Given the description of an element on the screen output the (x, y) to click on. 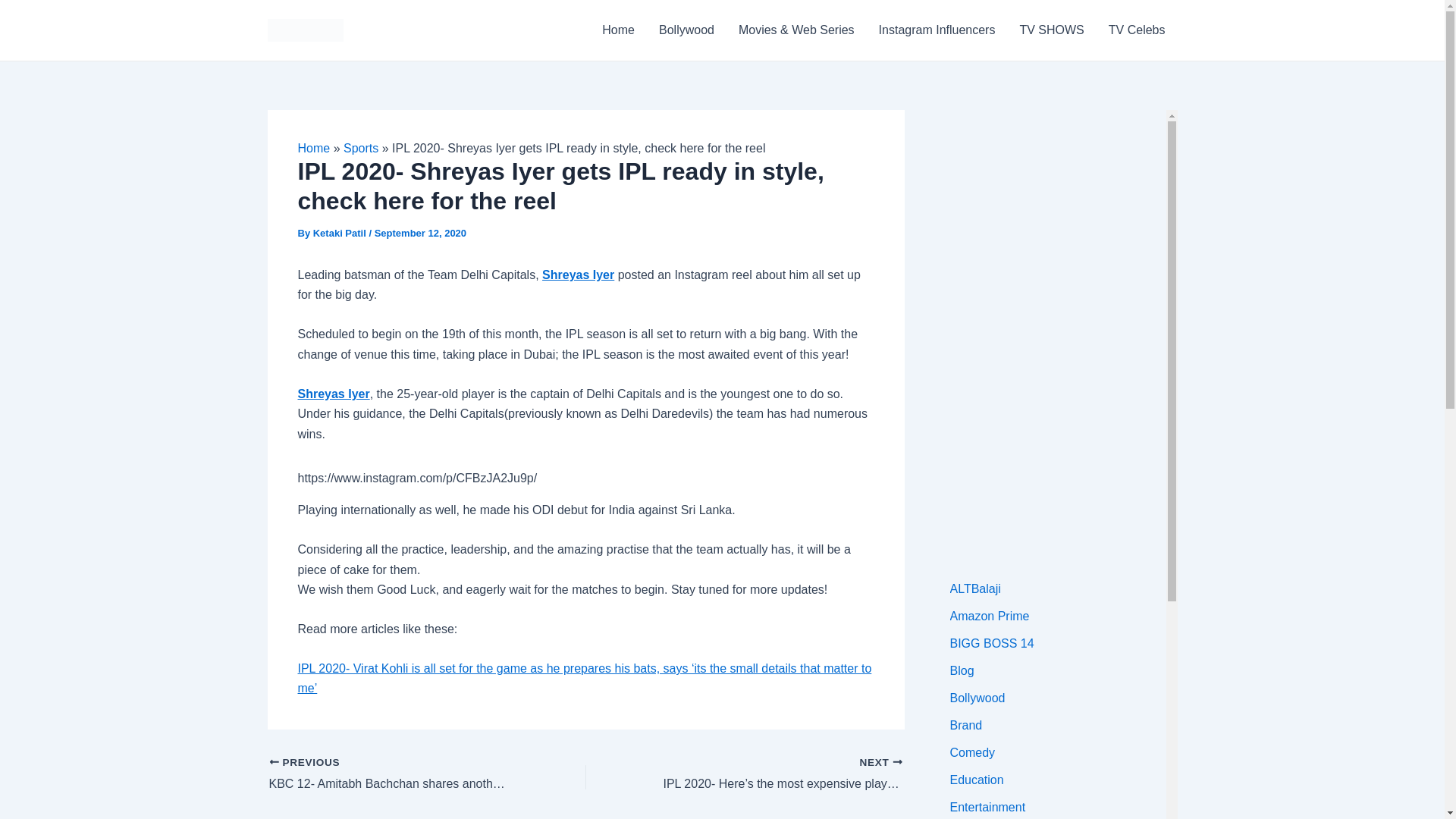
Home (617, 30)
Shreyas Iyer (333, 393)
TV Celebs (1136, 30)
Home (313, 147)
Sports (360, 147)
Shreyas Iyer (577, 274)
Ketaki Patil (341, 233)
Instagram Influencers (936, 30)
TV SHOWS (1051, 30)
